Given the description of an element on the screen output the (x, y) to click on. 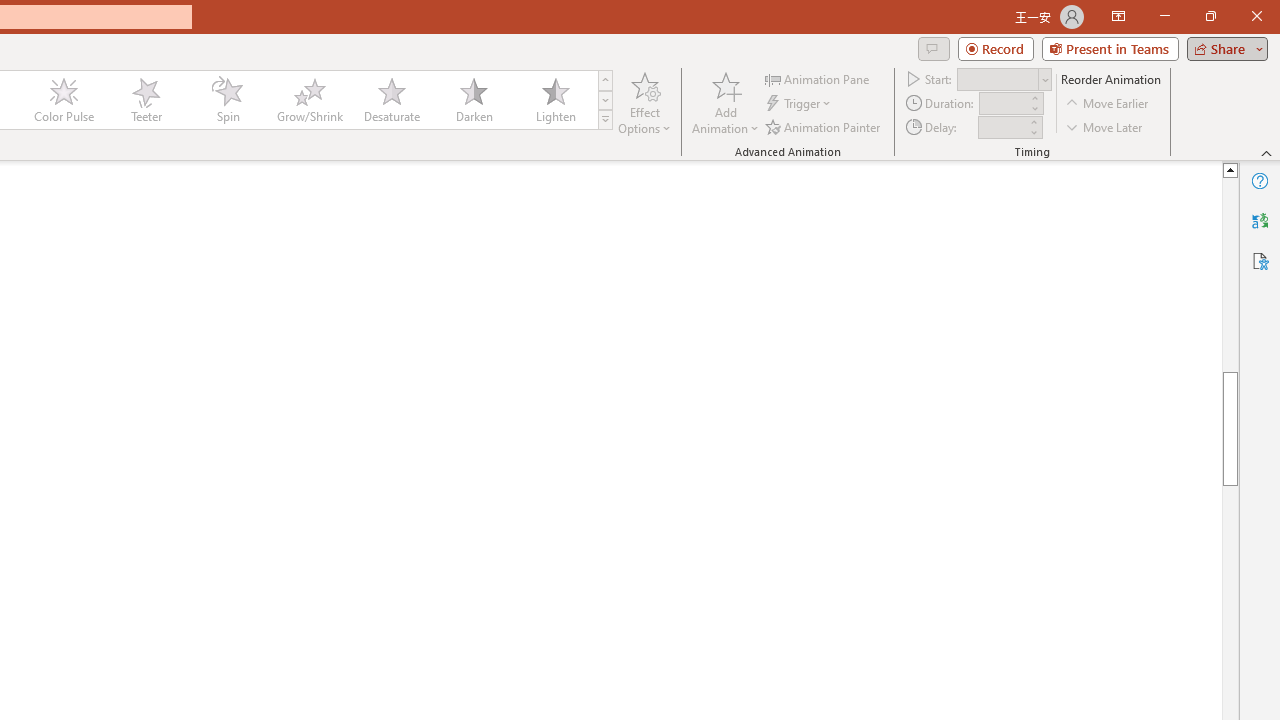
Add Animation (725, 102)
Animation Painter (824, 126)
Spin (227, 100)
Animation Styles (605, 120)
Move Earlier (1107, 103)
Move Later (1105, 126)
